Given the description of an element on the screen output the (x, y) to click on. 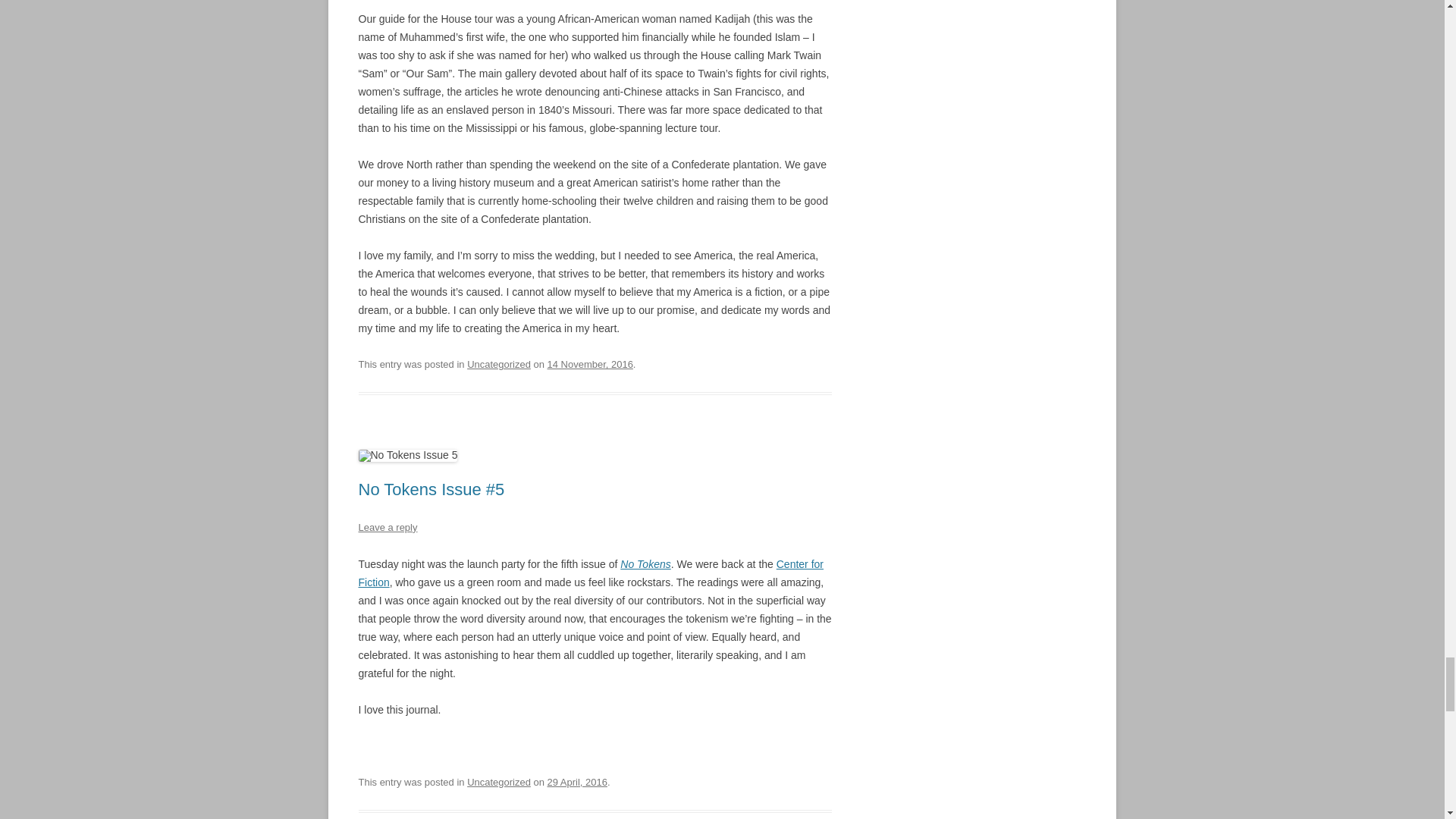
6:10 pm (590, 364)
